Given the description of an element on the screen output the (x, y) to click on. 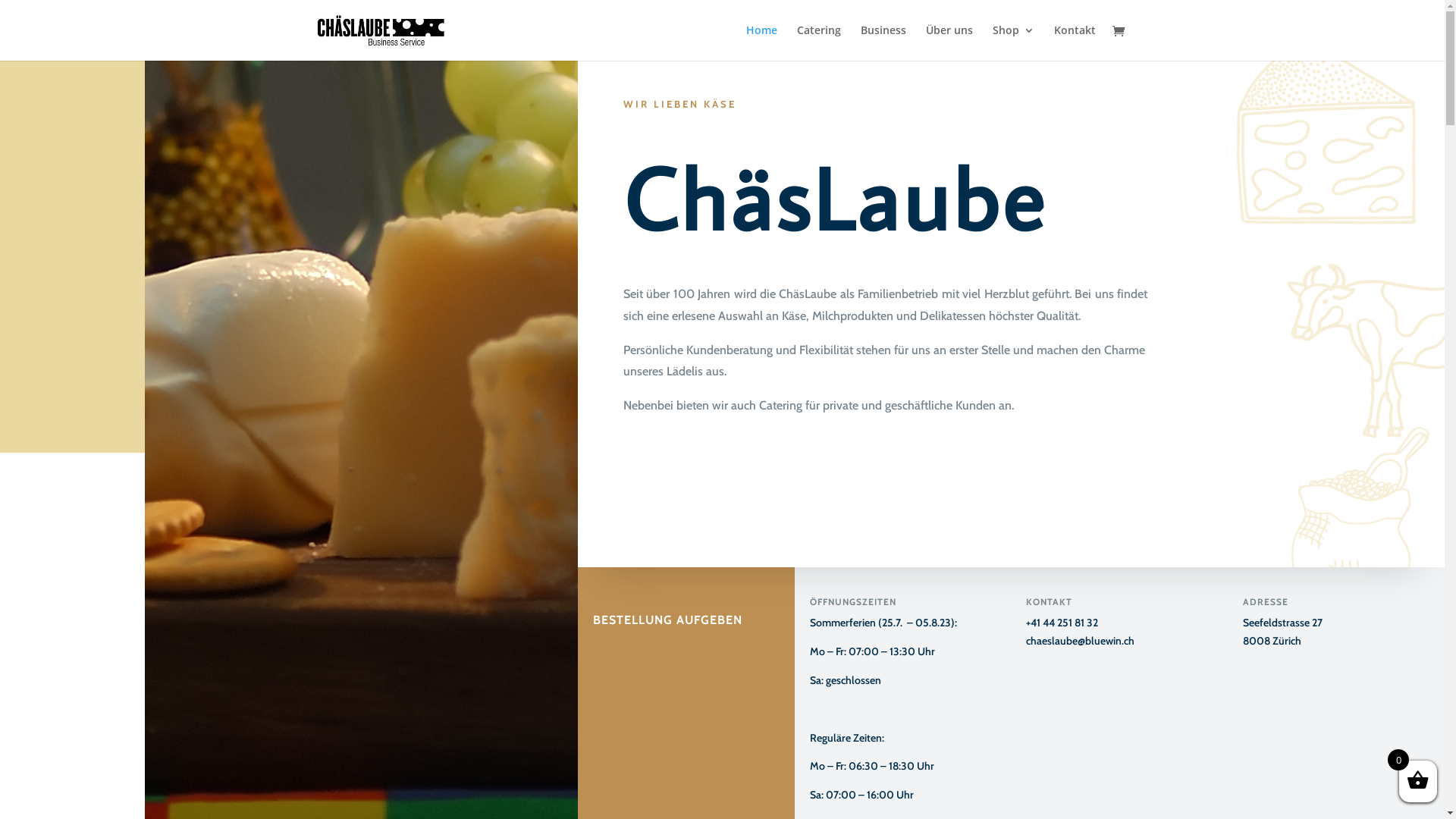
Shop Element type: text (1012, 42)
Kontakt Element type: text (1074, 42)
BESTELLUNG AUFGEBEN Element type: text (667, 600)
Business Element type: text (882, 42)
Home Element type: text (761, 42)
Catering Element type: text (818, 42)
+41 44 251 81 32 Element type: text (1062, 622)
chaeslaube@bluewin.ch Element type: text (1080, 640)
